Given the description of an element on the screen output the (x, y) to click on. 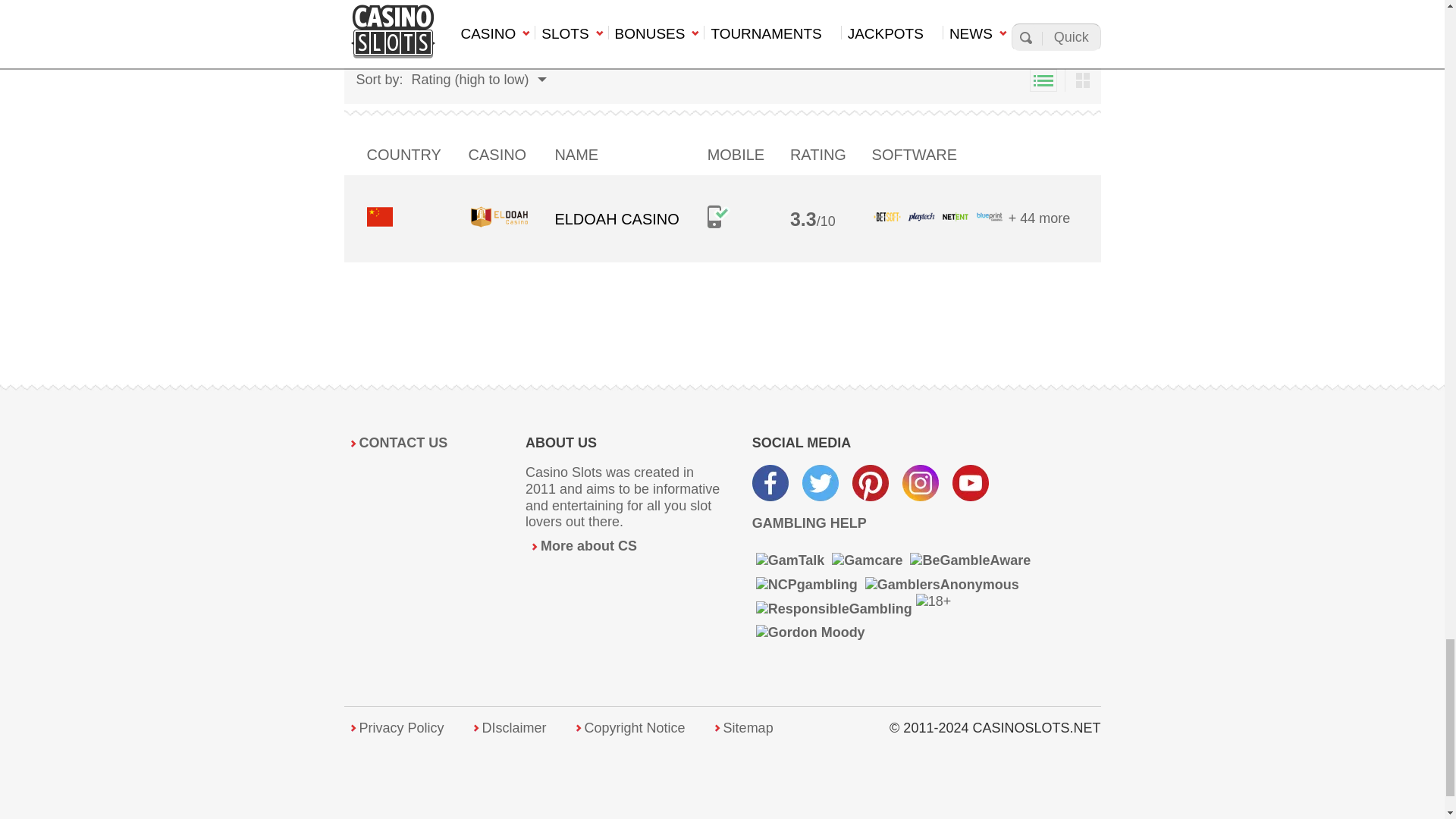
View casinos in list view (1043, 79)
China (379, 216)
View casinos in grid view (1082, 79)
BBIN (540, 40)
